Given the description of an element on the screen output the (x, y) to click on. 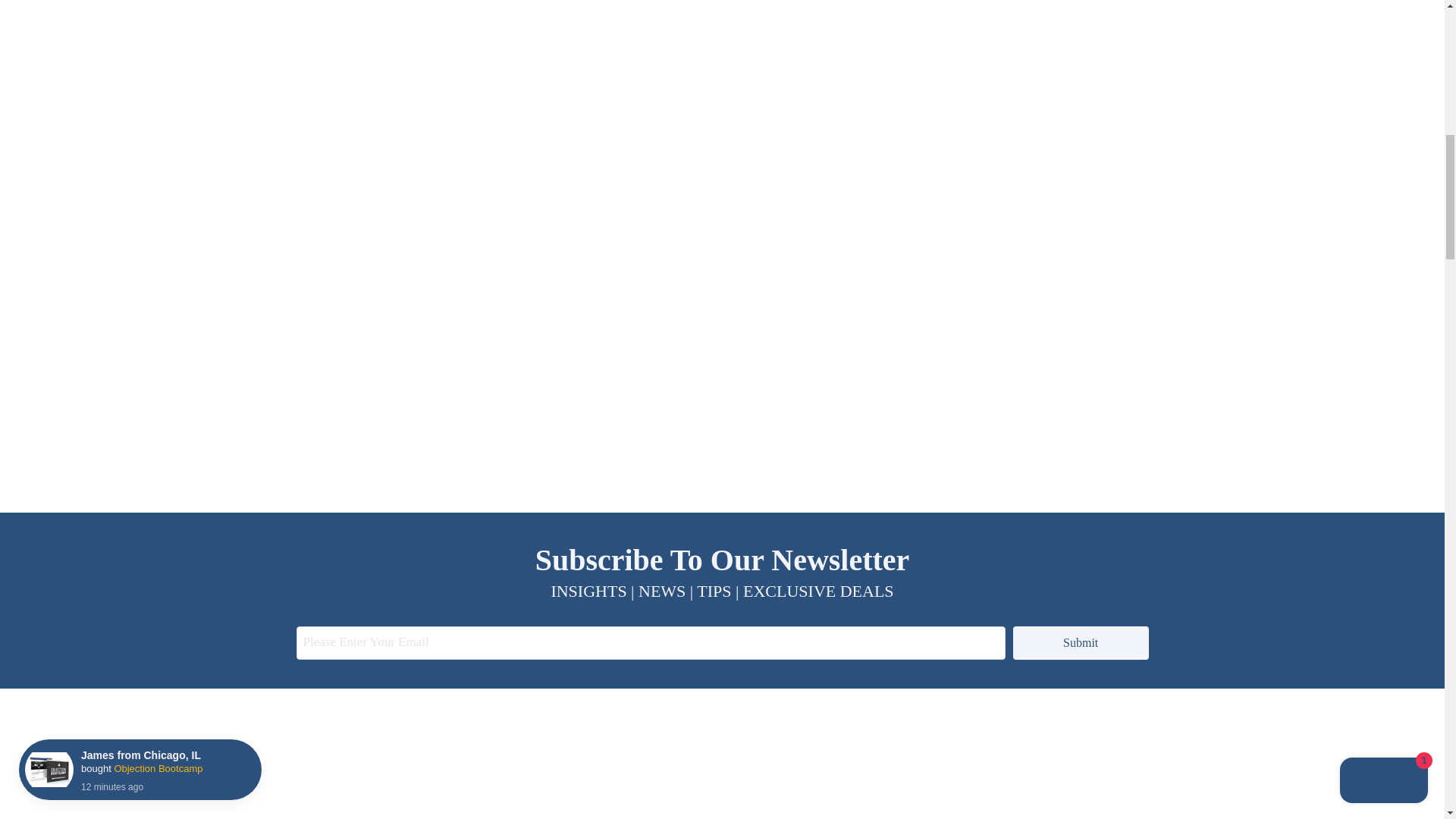
Submit (1080, 643)
